Given the description of an element on the screen output the (x, y) to click on. 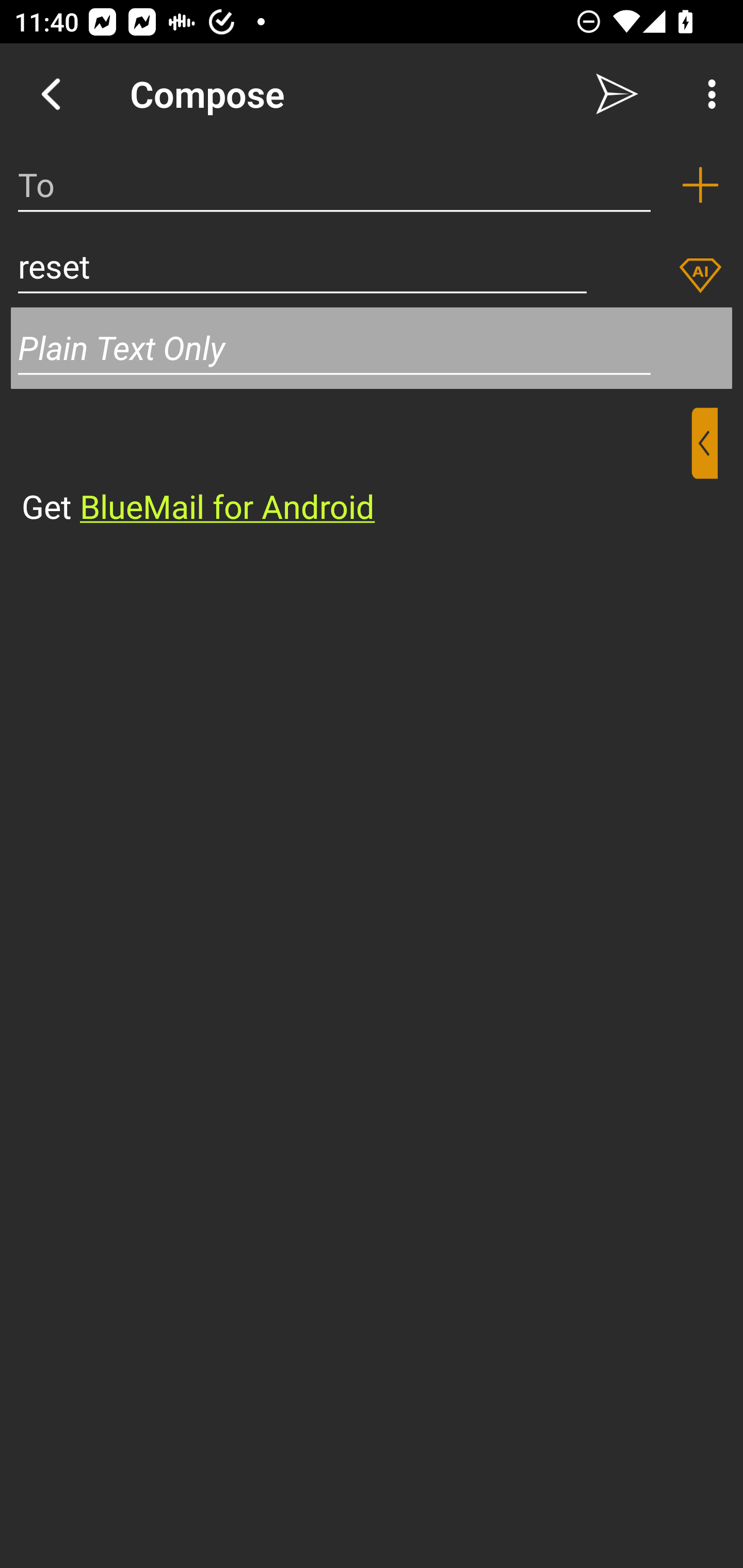
Navigate up (50, 93)
Send (616, 93)
More Options (706, 93)
To (334, 184)
Add recipient (To) (699, 184)
reset (302, 266)
Plain Text Only (371, 347)


⁣Get BlueMail for Android ​ (355, 468)
